Given the description of an element on the screen output the (x, y) to click on. 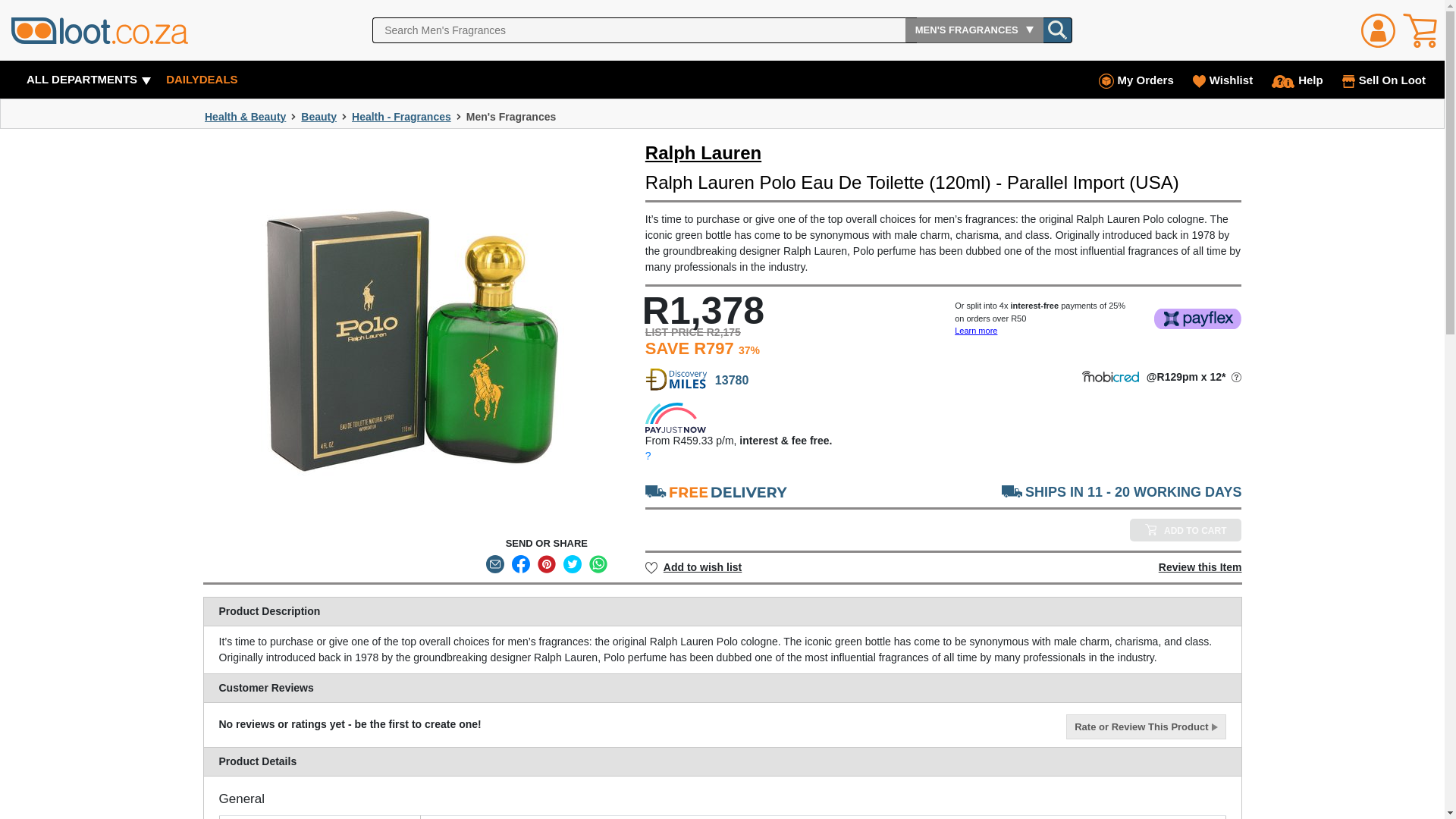
Wishlist (1220, 79)
Beauty (318, 116)
MEN'S FRAGRANCES (974, 30)
Health - Fragrances (401, 116)
Help (1295, 79)
Sell On Loot (1381, 79)
My Orders (1133, 79)
